Given the description of an element on the screen output the (x, y) to click on. 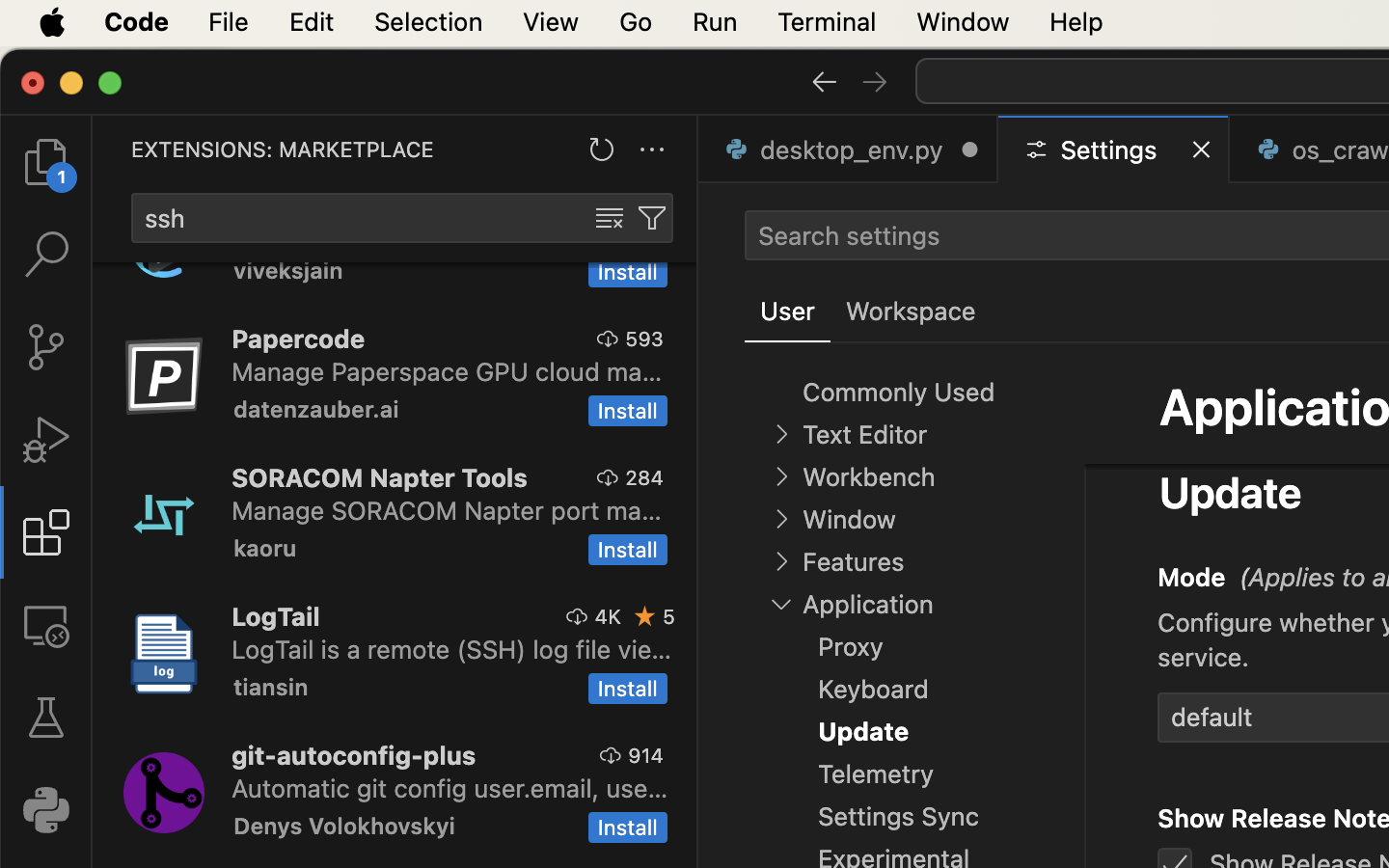
914 Element type: AXStaticText (645, 754)
1 Element type: AXRadioButton (787, 311)
0  Element type: AXRadioButton (46, 346)
Features Element type: AXStaticText (853, 561)
284 Element type: AXStaticText (644, 476)
